Given the description of an element on the screen output the (x, y) to click on. 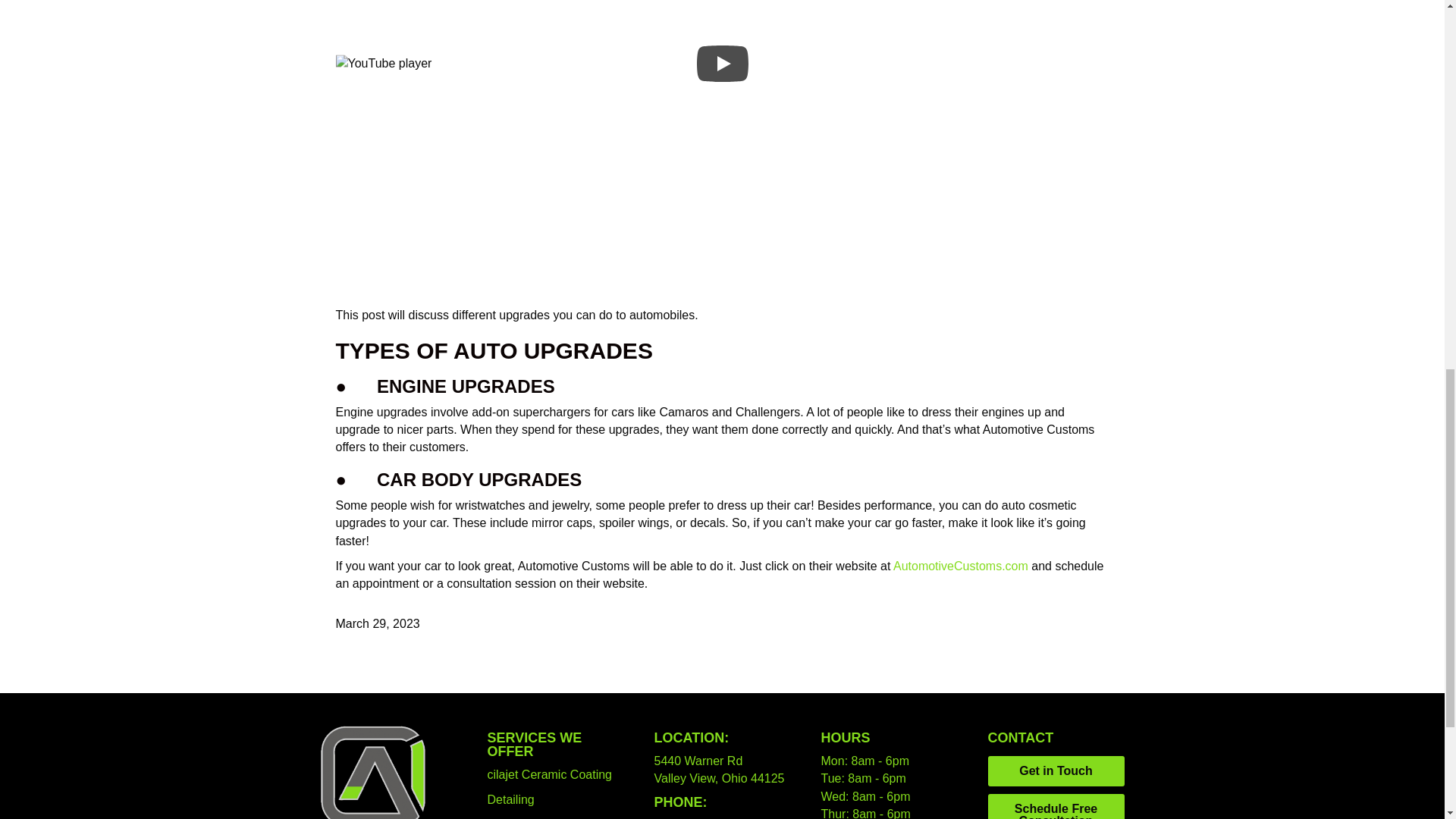
5440 Warner Rd (697, 760)
Schedule Free Consultation (1055, 806)
AutomotiveCustoms.com (960, 565)
Valley View, Ohio 44125 (718, 778)
Get in Touch (1055, 770)
Logo Png Updated (373, 769)
